Given the description of an element on the screen output the (x, y) to click on. 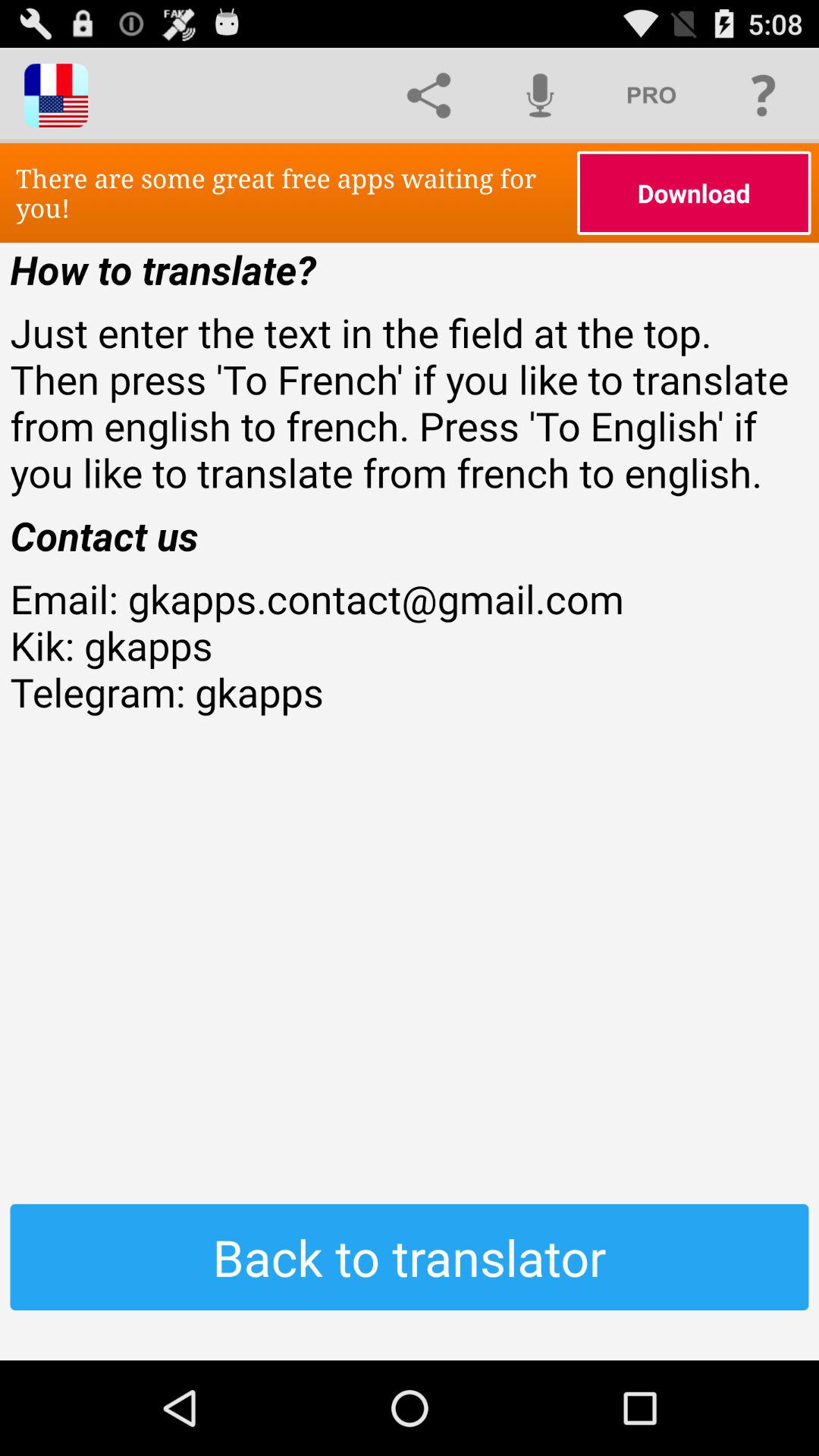
select button at the bottom (409, 1257)
